Given the description of an element on the screen output the (x, y) to click on. 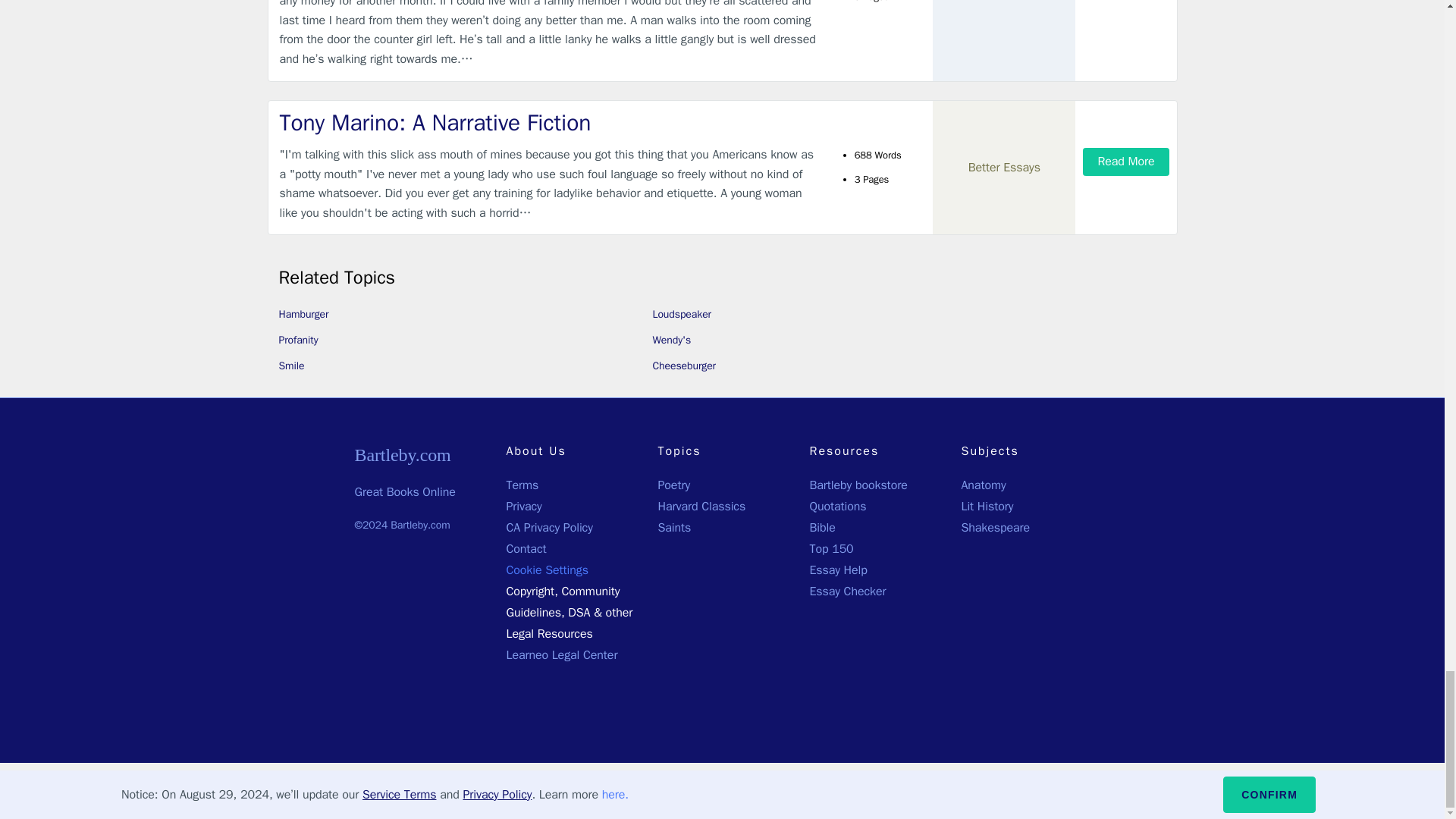
Loudspeaker (681, 314)
Hamburger (304, 314)
Wendy's (671, 339)
Smile (291, 365)
Cheeseburger (684, 365)
Profanity (298, 339)
